Given the description of an element on the screen output the (x, y) to click on. 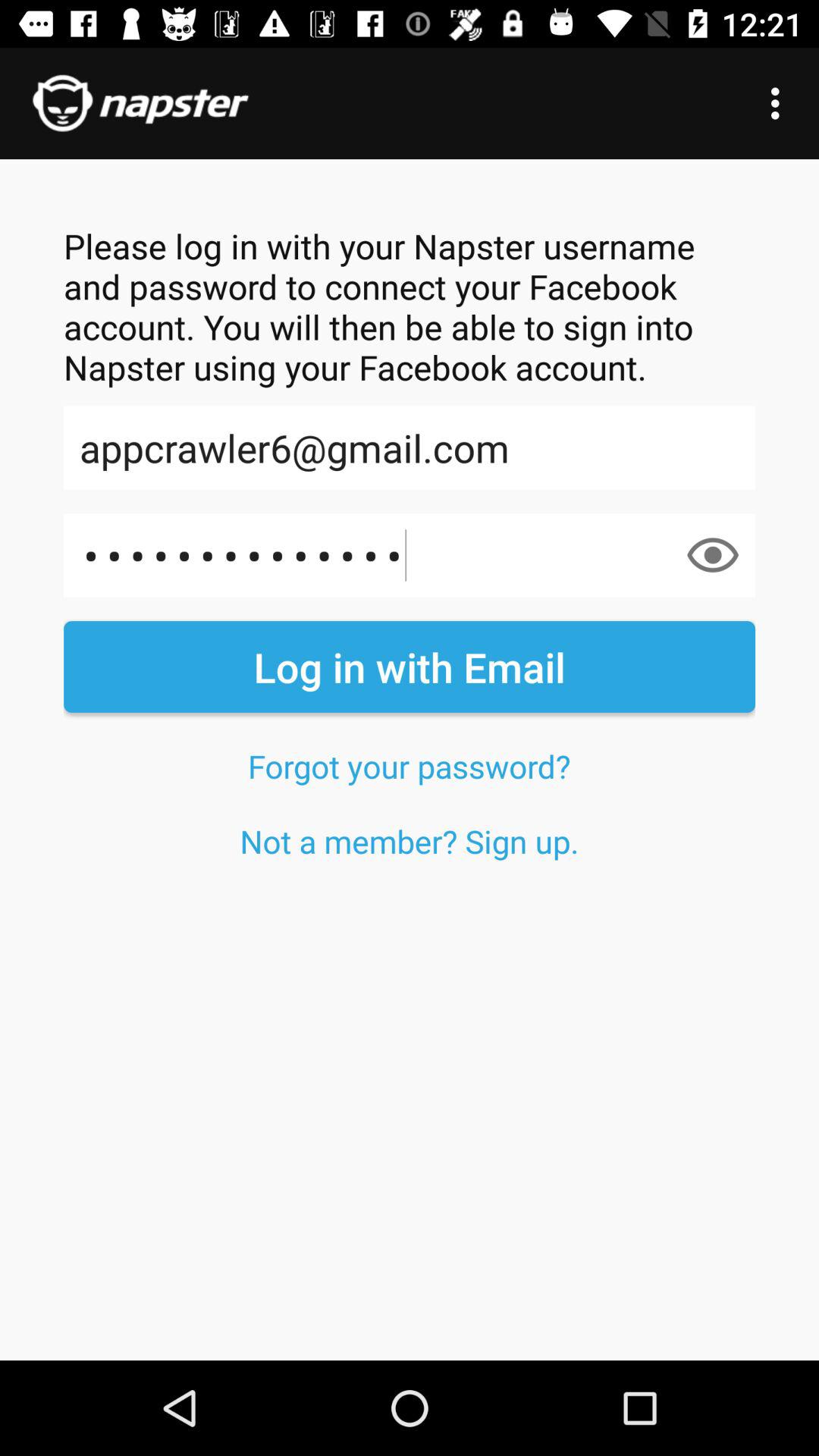
flip until appcrawler3116 (409, 555)
